Given the description of an element on the screen output the (x, y) to click on. 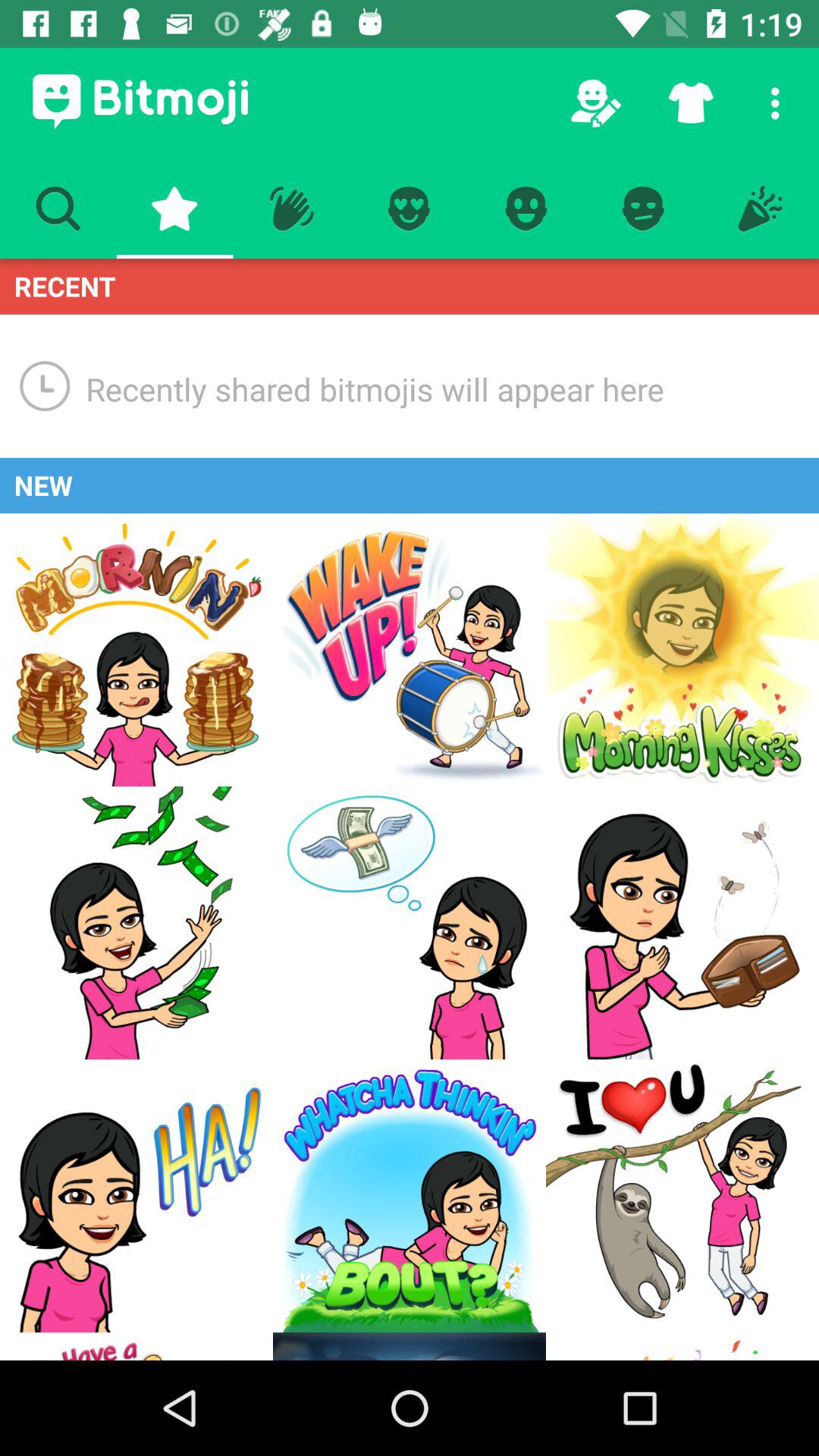
select whatcha thinkin bout (409, 1195)
